Given the description of an element on the screen output the (x, y) to click on. 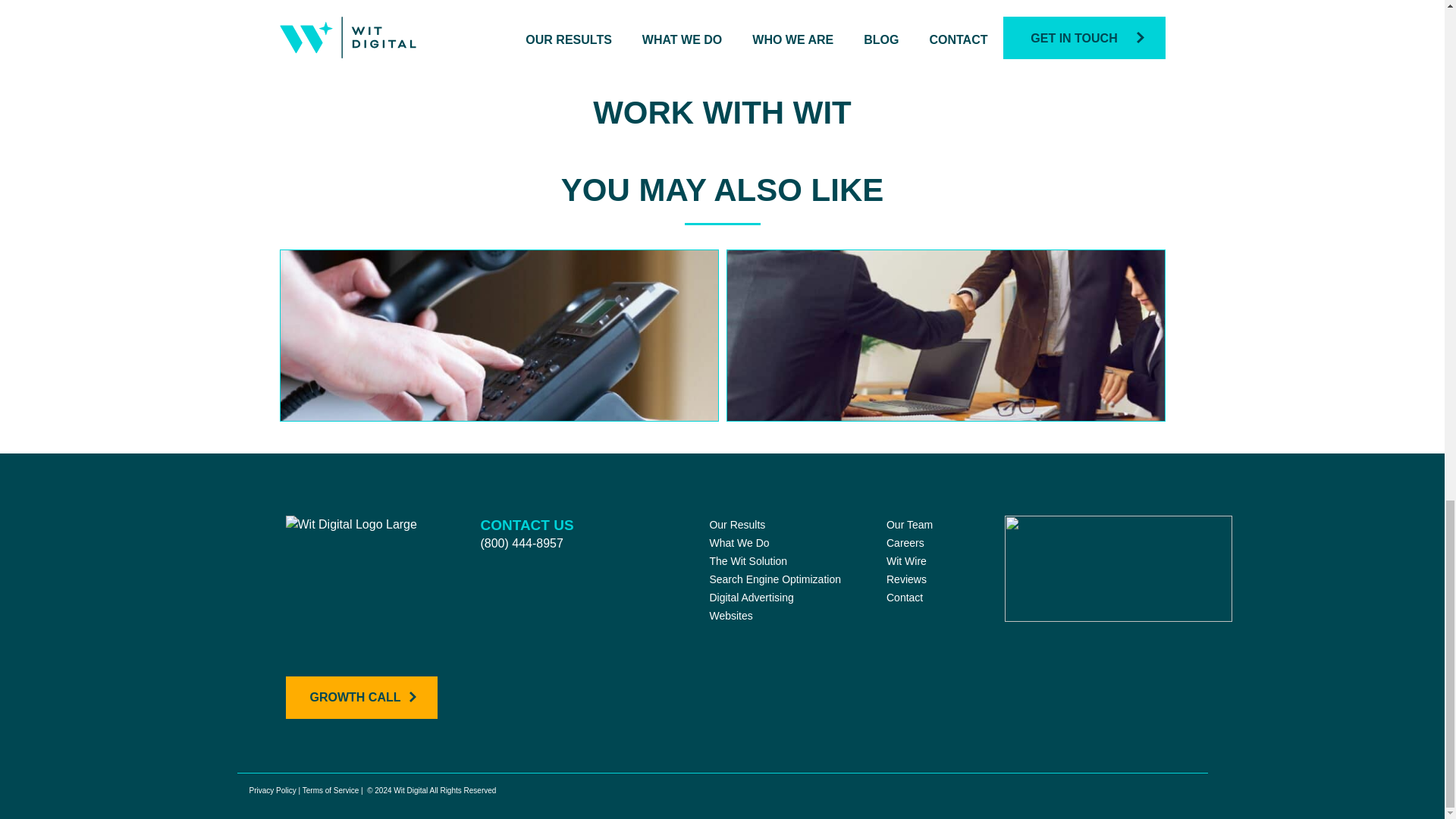
Linkedin (600, 706)
What We Do (738, 542)
Websites (730, 615)
Wit Wire (906, 561)
Facebook (491, 706)
Careers (905, 542)
Search Engine Optimization (775, 579)
Contact (904, 597)
Digital Advertising (751, 597)
Our Team (909, 524)
